Given the description of an element on the screen output the (x, y) to click on. 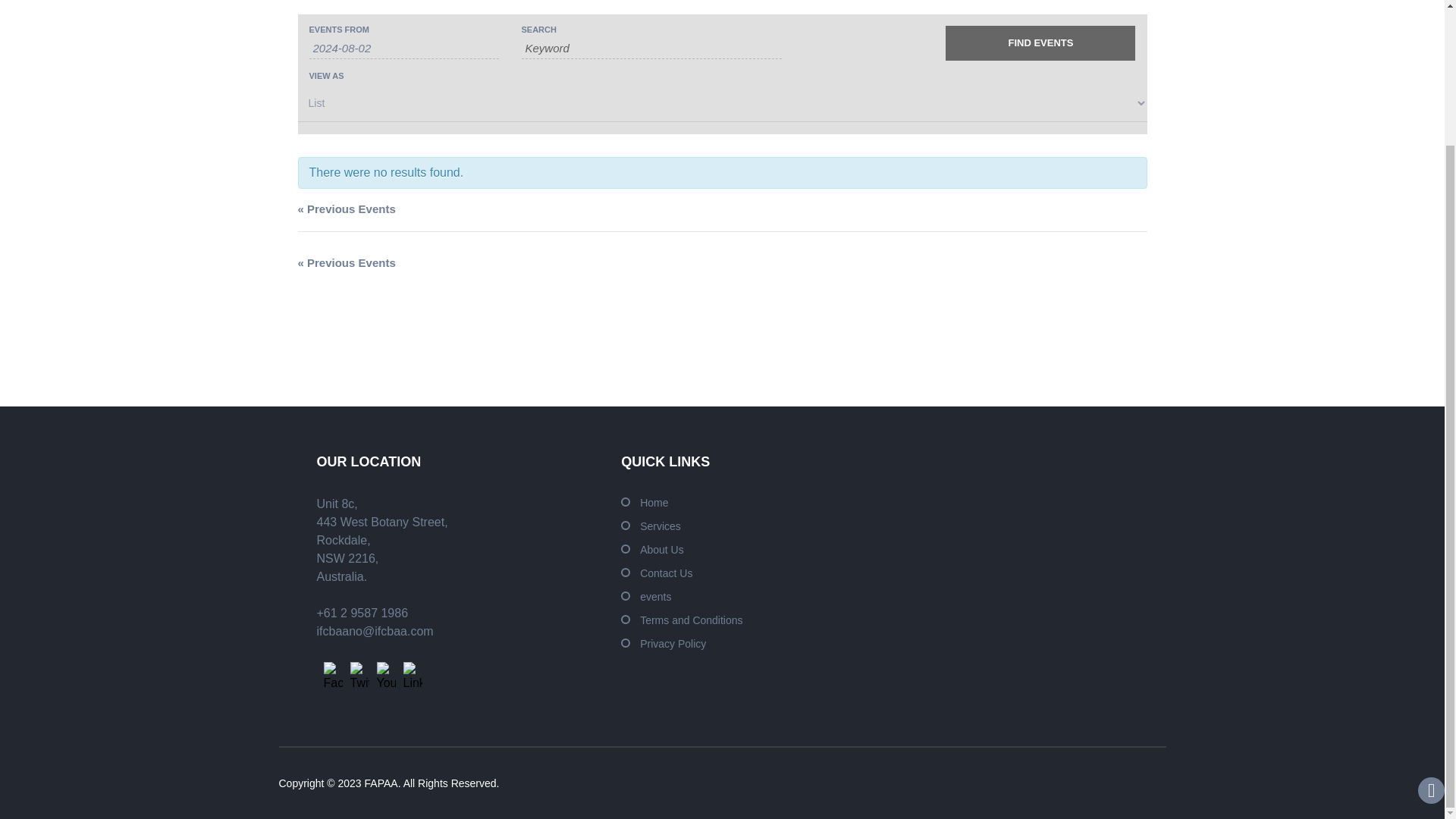
Find Events (1039, 42)
2024-08-02 (403, 47)
